Given the description of an element on the screen output the (x, y) to click on. 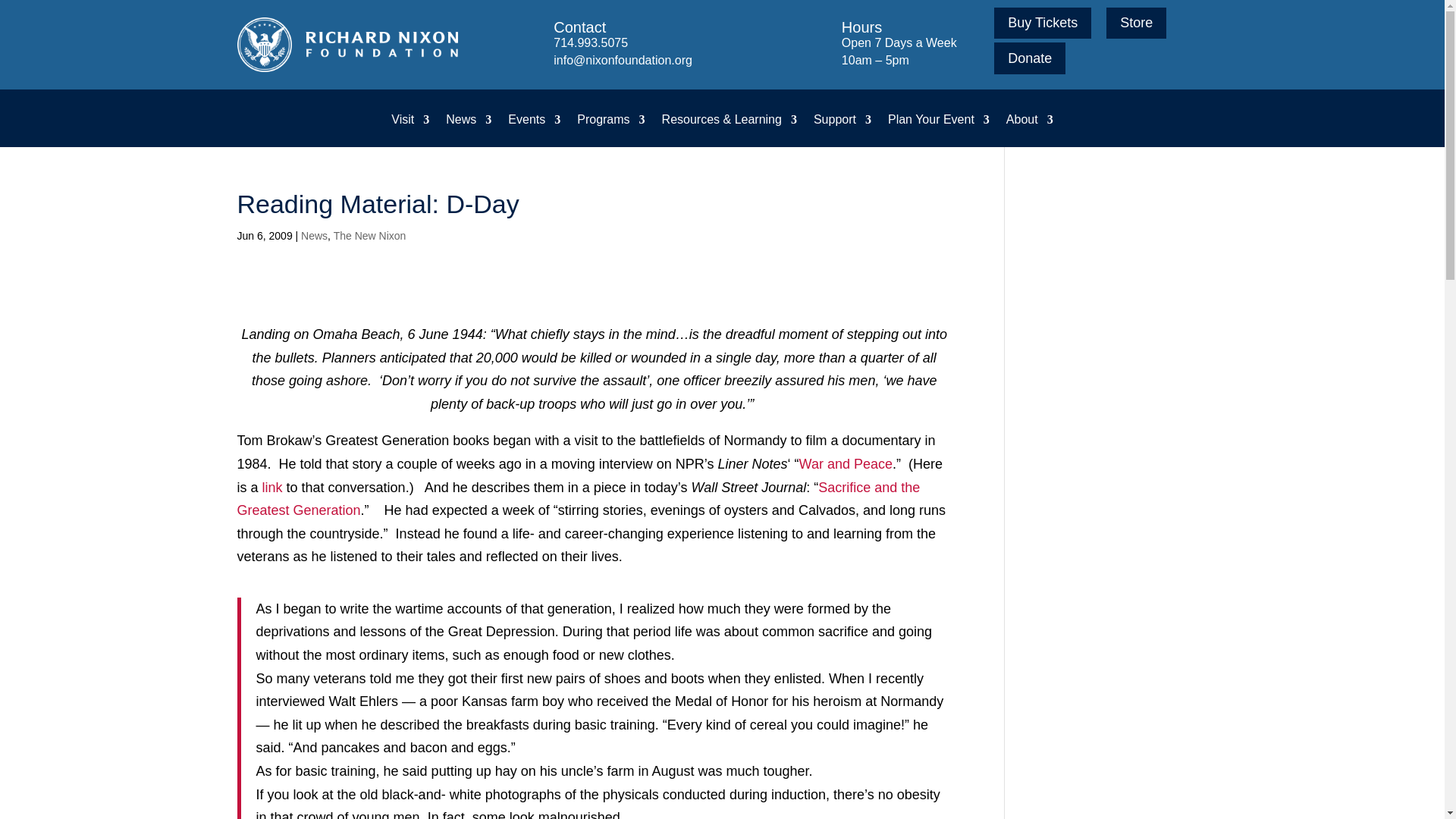
News (468, 130)
Donate (1029, 57)
Support (841, 130)
Visit (410, 130)
714.993.5075 (590, 42)
Buy Tickets (1042, 22)
Store (1136, 22)
Programs (610, 130)
rnf-logo-2020 (346, 44)
Events (534, 130)
